Given the description of an element on the screen output the (x, y) to click on. 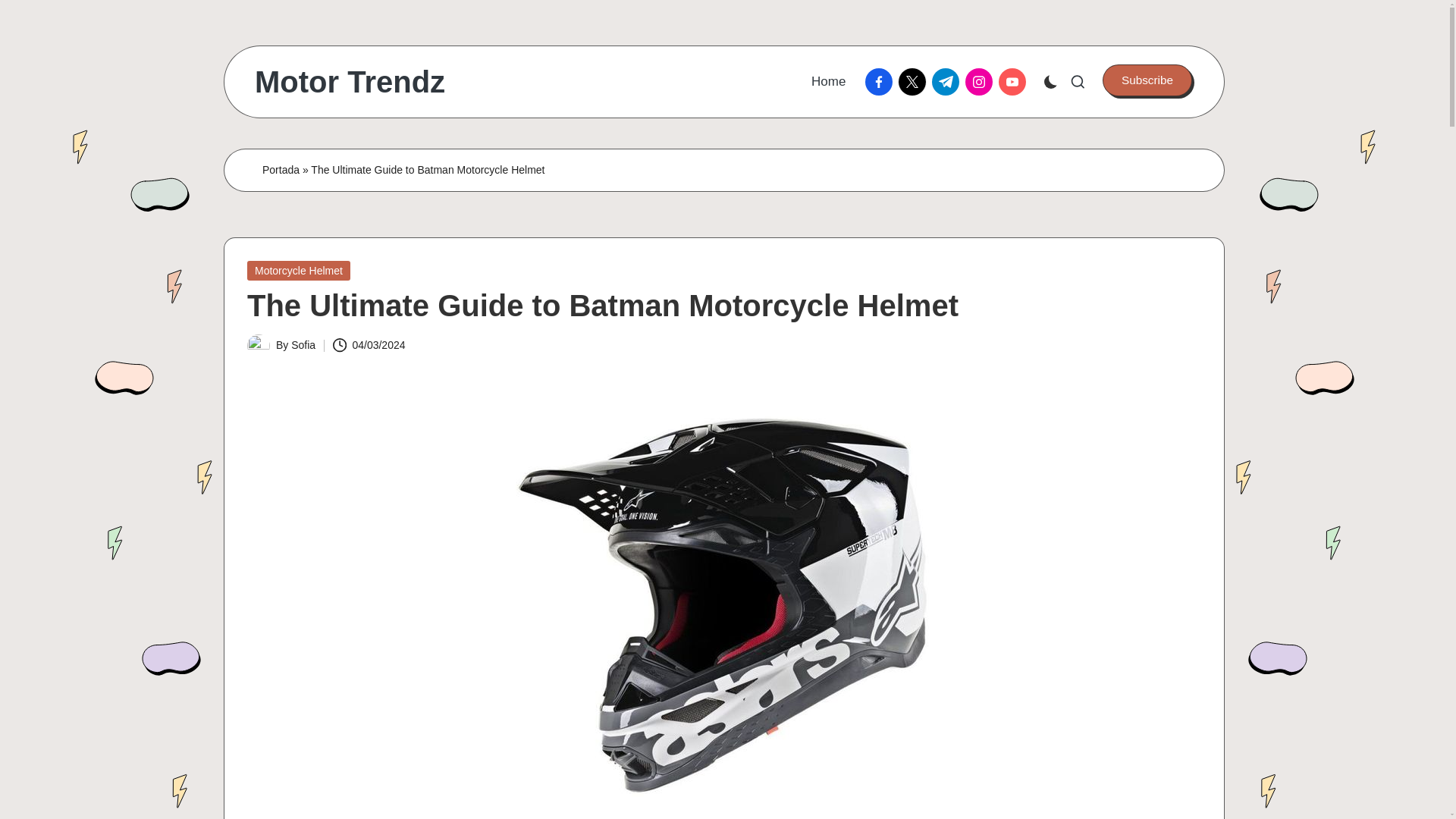
youtube.com (1015, 81)
twitter.com (914, 81)
Home (827, 81)
Motor Trendz (349, 81)
instagram.com (981, 81)
facebook.com (881, 81)
Portada (280, 169)
View all posts by Sofia (303, 345)
t.me (948, 81)
Sofia (303, 345)
